Given the description of an element on the screen output the (x, y) to click on. 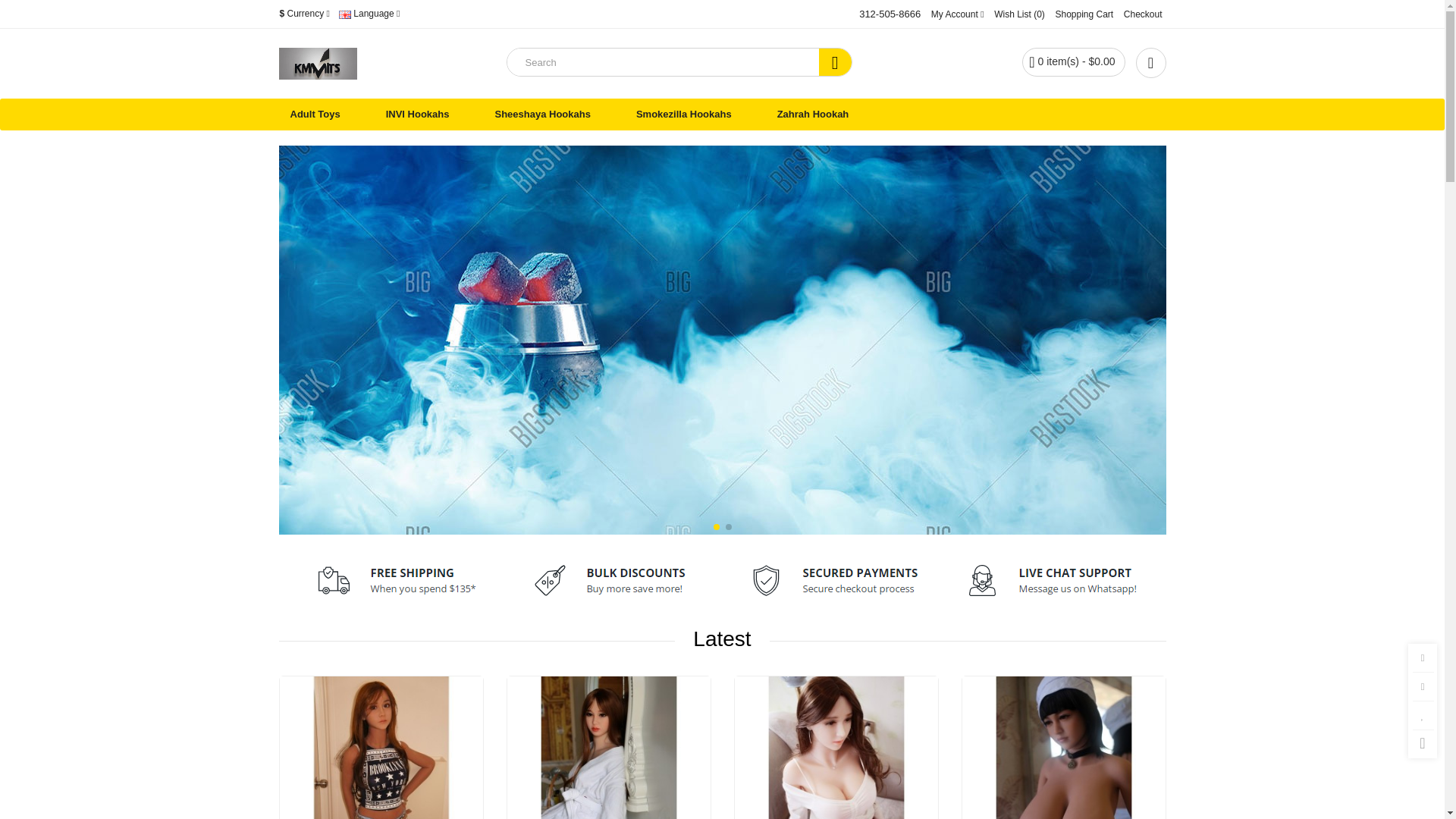
English (344, 14)
Checkout (1142, 14)
Shopping Cart (1083, 14)
Adult Toys (315, 114)
My Account (957, 14)
Smokezilla Hookahs (683, 114)
Language  (368, 14)
Shopping Cart (1083, 14)
Real Size Body Doll 158CM D-CUP (608, 747)
Hookahs for Sale (317, 63)
INVI Hookahs (417, 114)
Sheeshaya Hookahs (542, 114)
Zahrah Hookah (812, 114)
My Account (957, 14)
Real Size Body Doll 158CM C-CUP (380, 747)
